Given the description of an element on the screen output the (x, y) to click on. 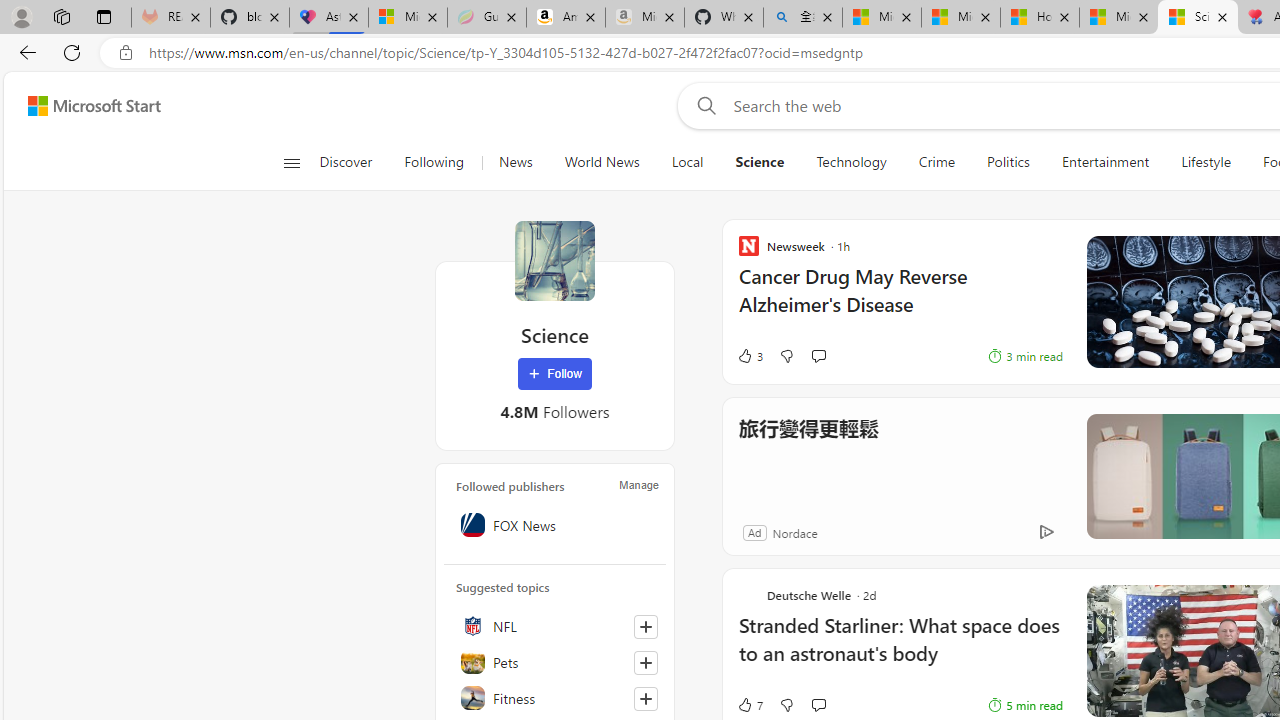
Entertainment (1105, 162)
FOX News (555, 525)
Fitness (555, 697)
Manage (639, 484)
